Given the description of an element on the screen output the (x, y) to click on. 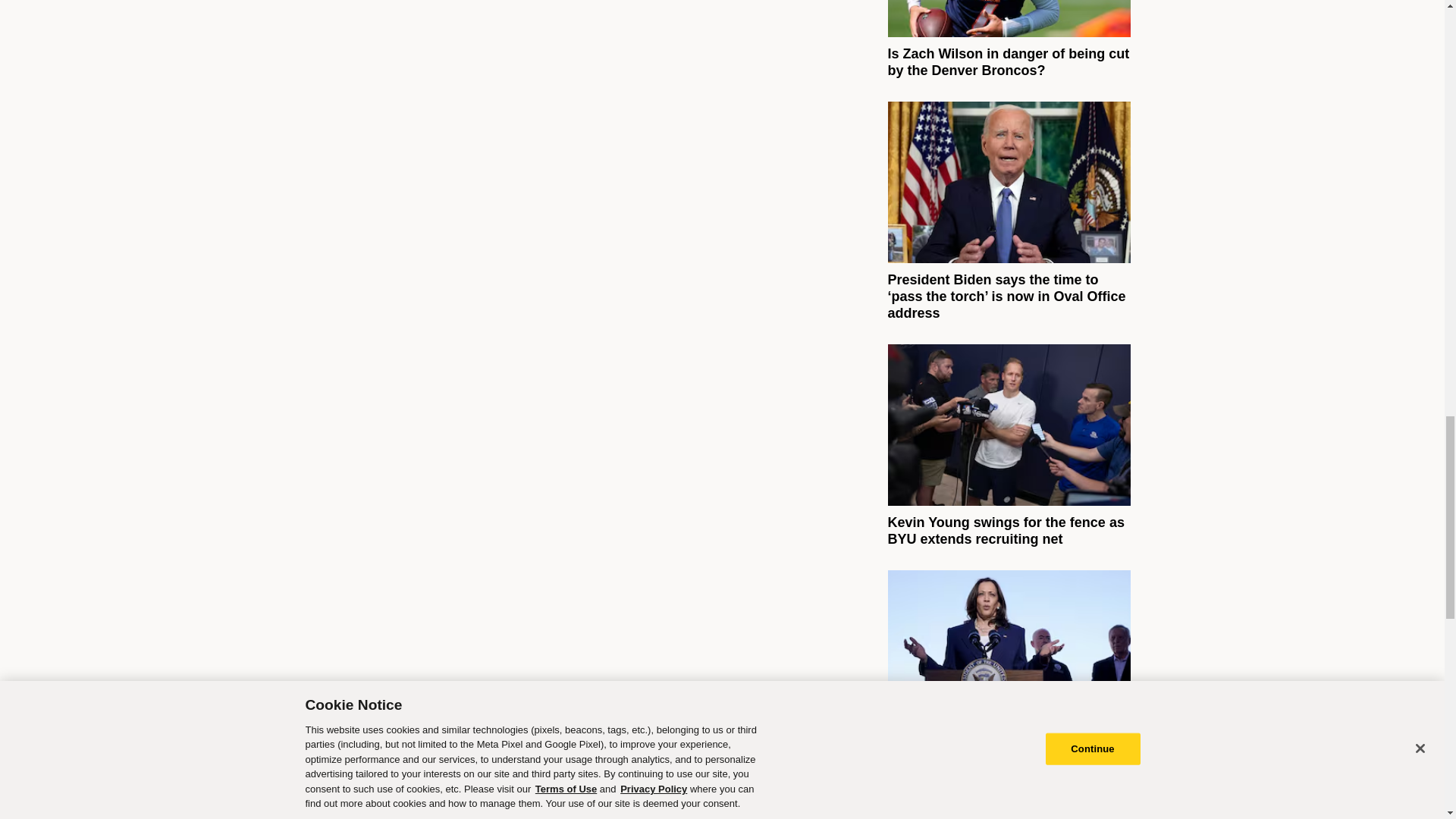
Is Zach Wilson in danger of being cut by the Denver Broncos? (1007, 61)
